Given the description of an element on the screen output the (x, y) to click on. 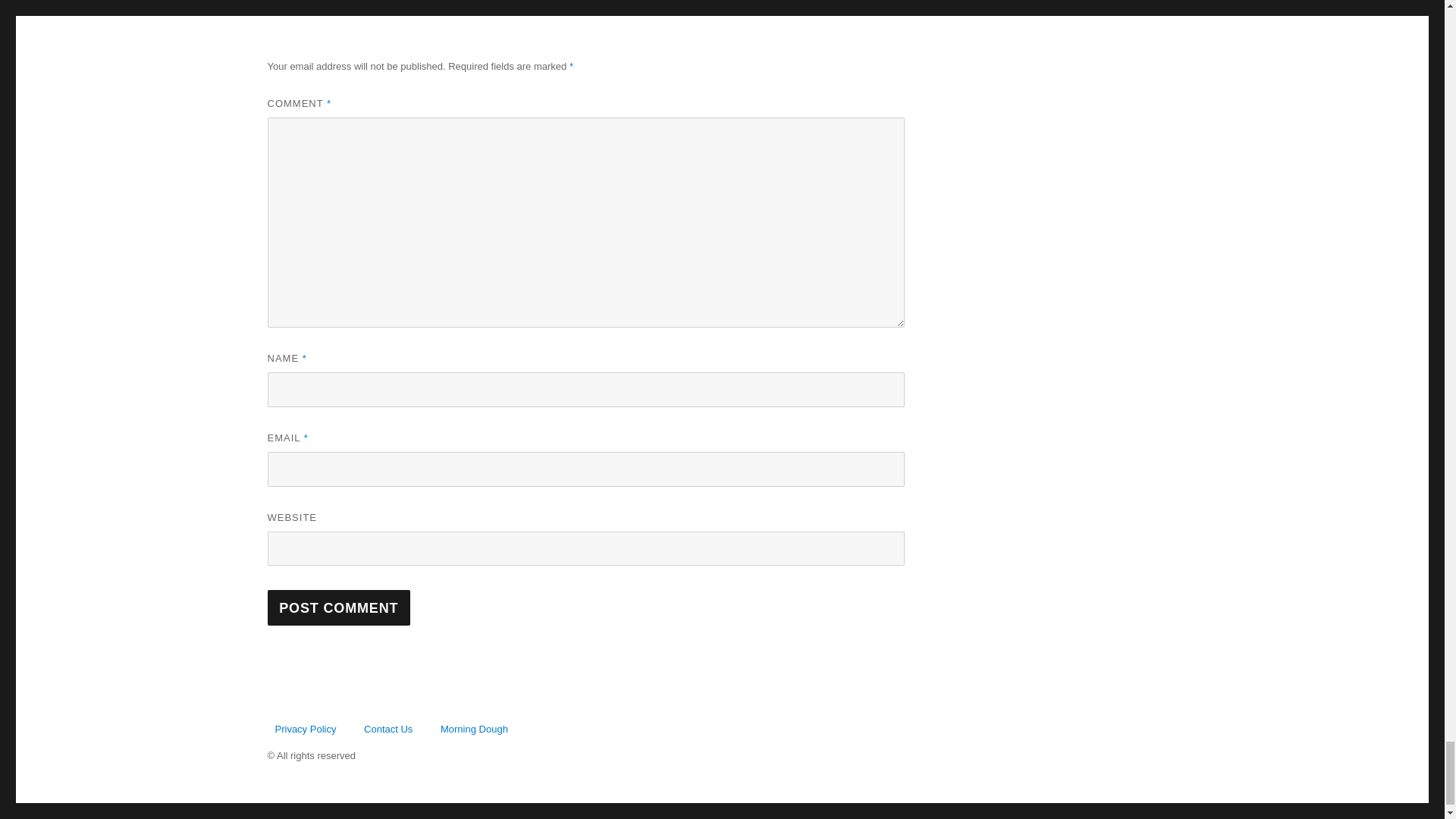
Post Comment (338, 607)
Post Comment (338, 607)
